Given the description of an element on the screen output the (x, y) to click on. 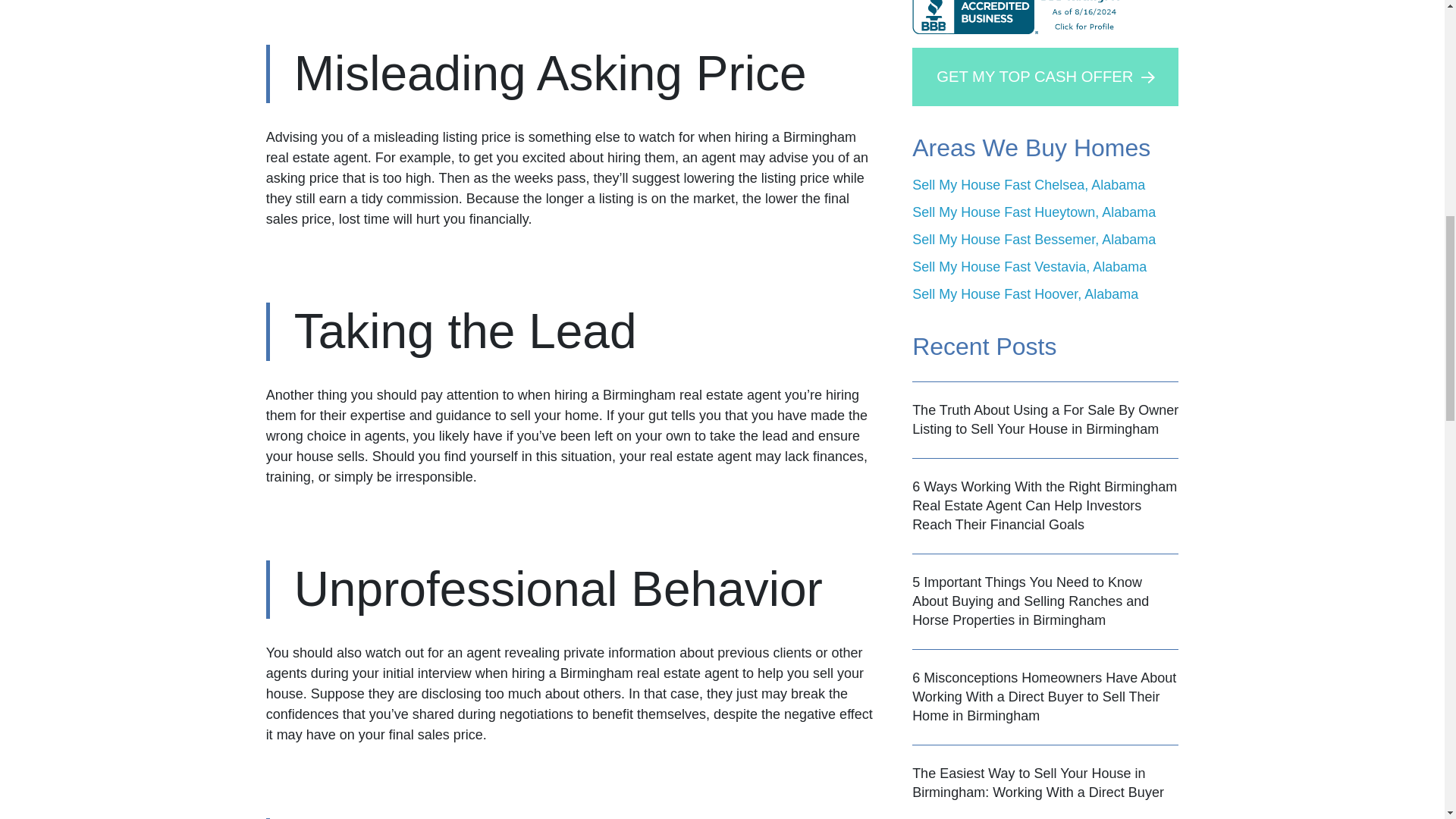
Mark Buys Houses, Real Estate Investing, Birmingham, AL (1023, 17)
Sell My House Fast Bessemer, Alabama (1034, 239)
GET MY TOP CASH OFFER (1044, 76)
Sell My House Fast Hueytown, Alabama (1034, 212)
Sell My House Fast Chelsea, Alabama (1028, 184)
